Given the description of an element on the screen output the (x, y) to click on. 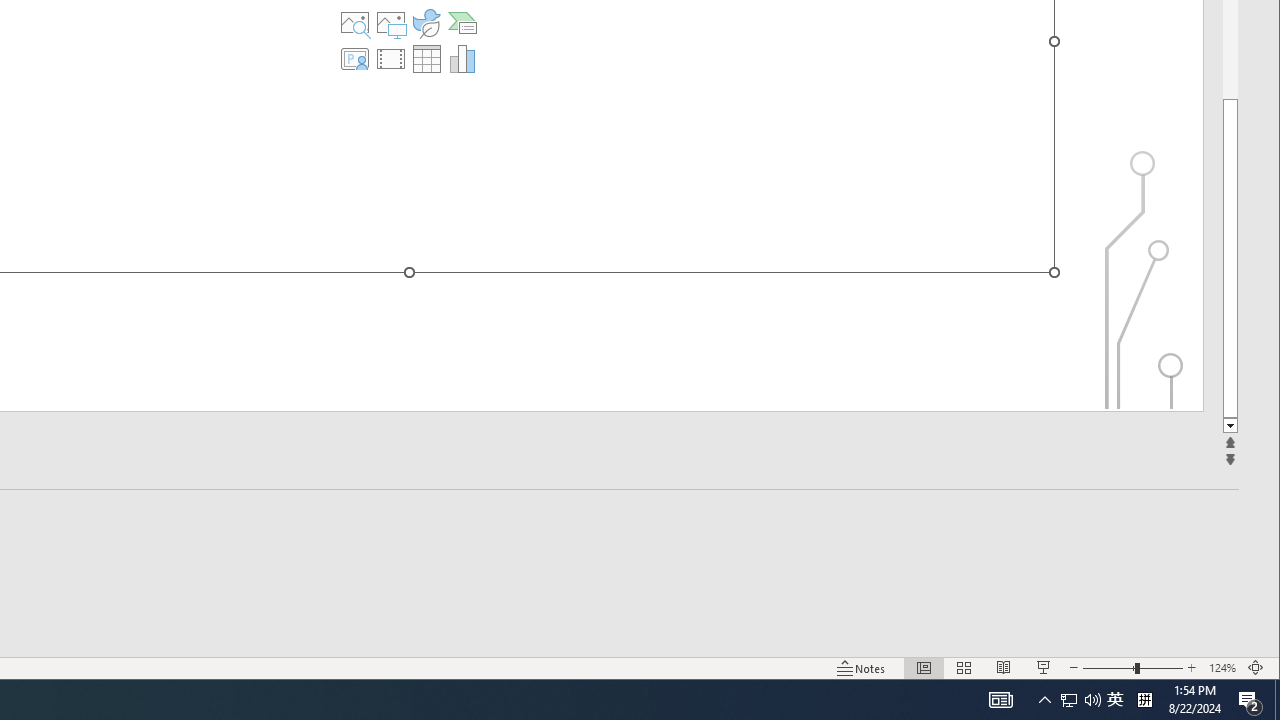
Insert a SmartArt Graphic (462, 22)
Insert Video (391, 58)
Insert Table (426, 58)
Pictures (391, 22)
Stock Images (355, 22)
Insert Cameo (355, 58)
Insert an Icon (426, 22)
Insert Chart (462, 58)
